Given the description of an element on the screen output the (x, y) to click on. 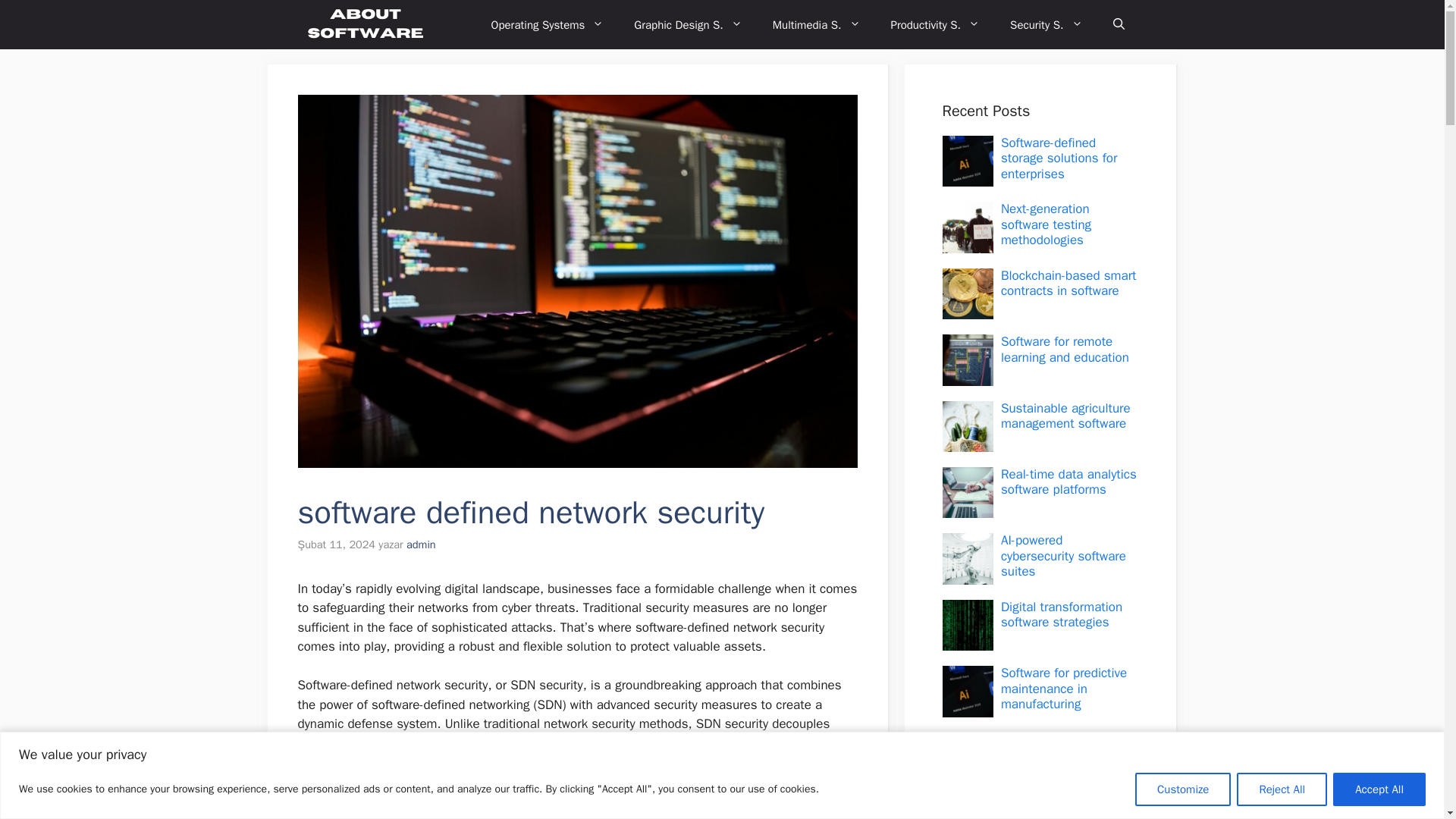
Operating Systems (548, 23)
Reject All (1281, 788)
Accept All (1379, 788)
Graphic Design S. (687, 23)
Customize (1182, 788)
